Given the description of an element on the screen output the (x, y) to click on. 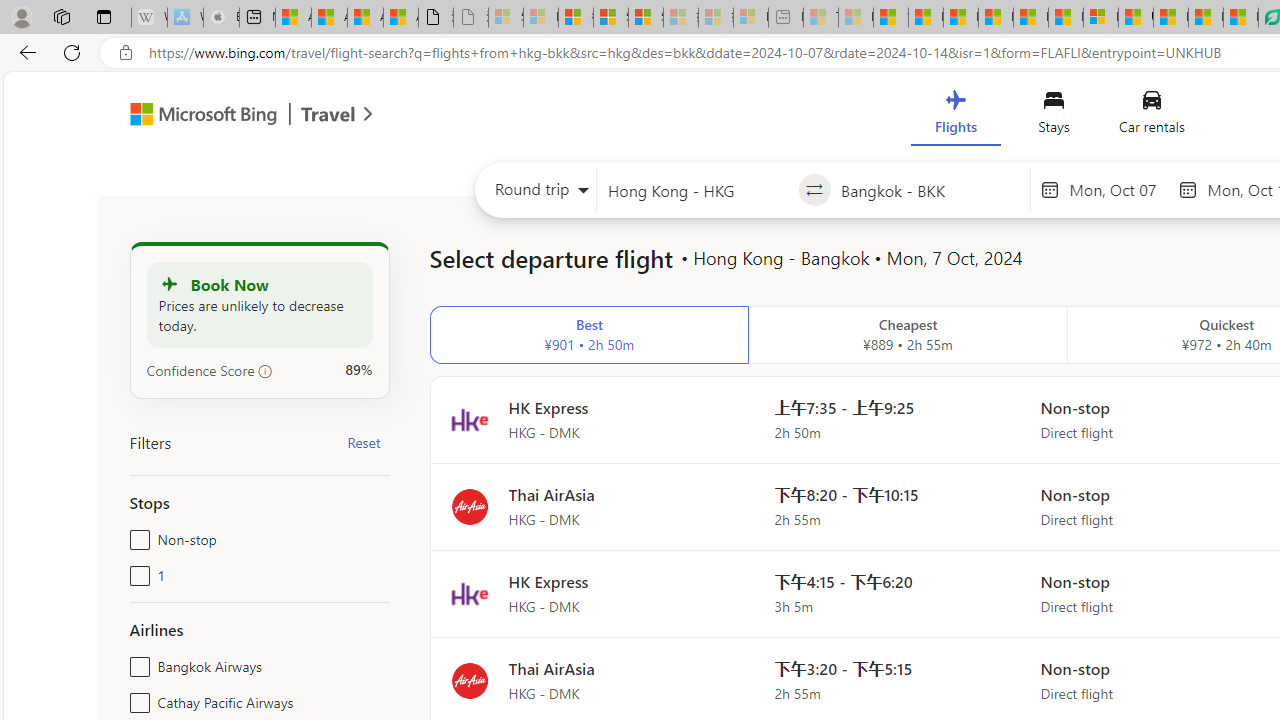
Microsoft Bing Travel (229, 116)
Flight logo (469, 680)
New tab - Sleeping (785, 17)
Start Date (1118, 189)
Leaving from? (697, 190)
Reset (363, 442)
Non-stop (136, 535)
Drinking tea every day is proven to delay biological aging (995, 17)
Aberdeen, Hong Kong SAR weather forecast | Microsoft Weather (329, 17)
